Given the description of an element on the screen output the (x, y) to click on. 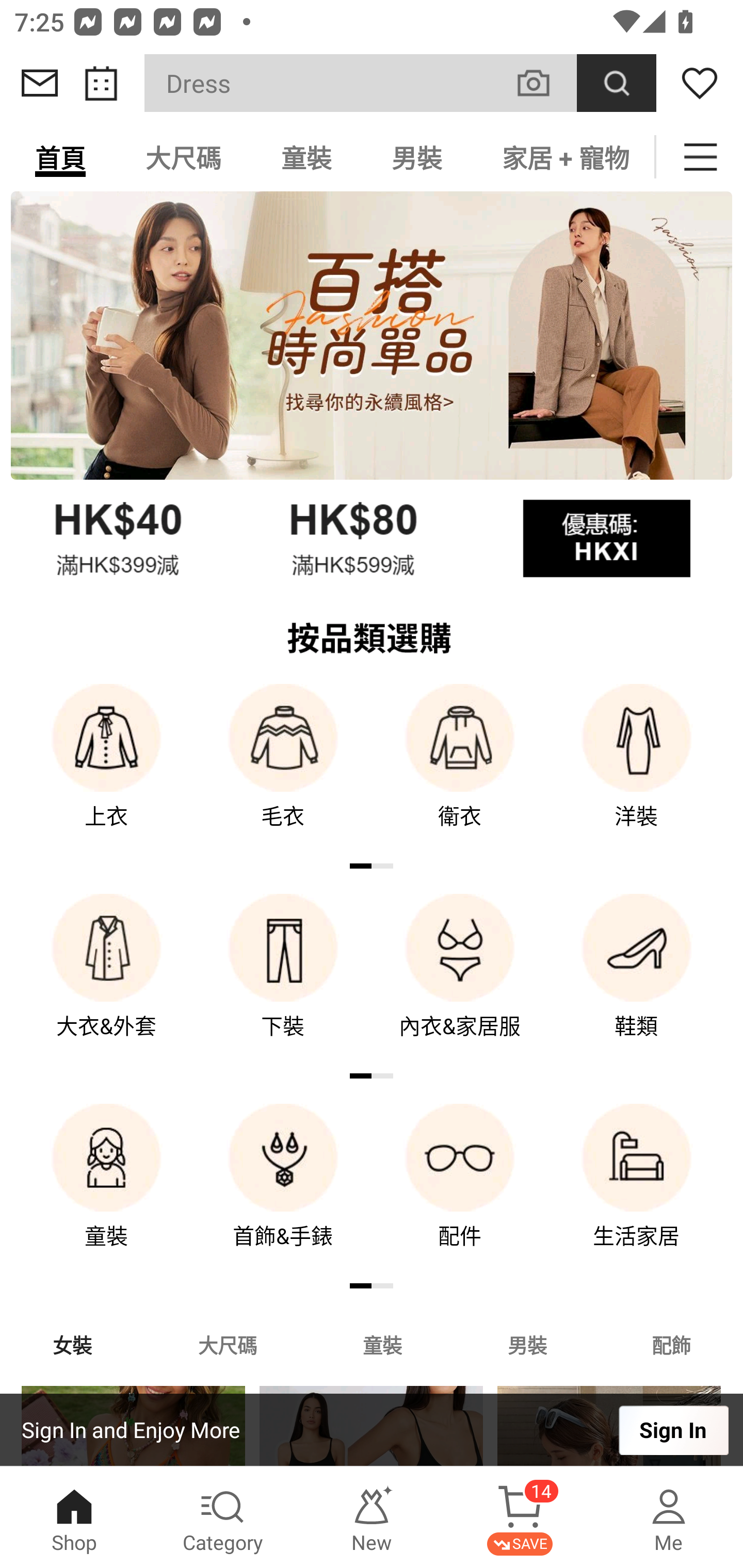
Wishlist (699, 82)
VISUAL SEARCH (543, 82)
首頁 (60, 156)
大尺碼 (183, 156)
童裝 (306, 156)
男裝 (416, 156)
家居 + 寵物 (563, 156)
上衣 (105, 769)
毛衣 (282, 769)
衛衣 (459, 769)
洋裝 (636, 769)
大衣&外套 (105, 979)
下裝 (282, 979)
內衣&家居服 (459, 979)
鞋類 (636, 979)
童裝 (105, 1189)
首飾&手錶 (282, 1189)
配件 (459, 1189)
生活家居 (636, 1189)
女裝 (72, 1344)
大尺碼 (226, 1344)
童裝 (381, 1344)
男裝 (527, 1344)
配飾 (671, 1344)
Sign In and Enjoy More Sign In (371, 1429)
Category (222, 1517)
New (371, 1517)
Cart 14 SAVE (519, 1517)
Me (668, 1517)
